Given the description of an element on the screen output the (x, y) to click on. 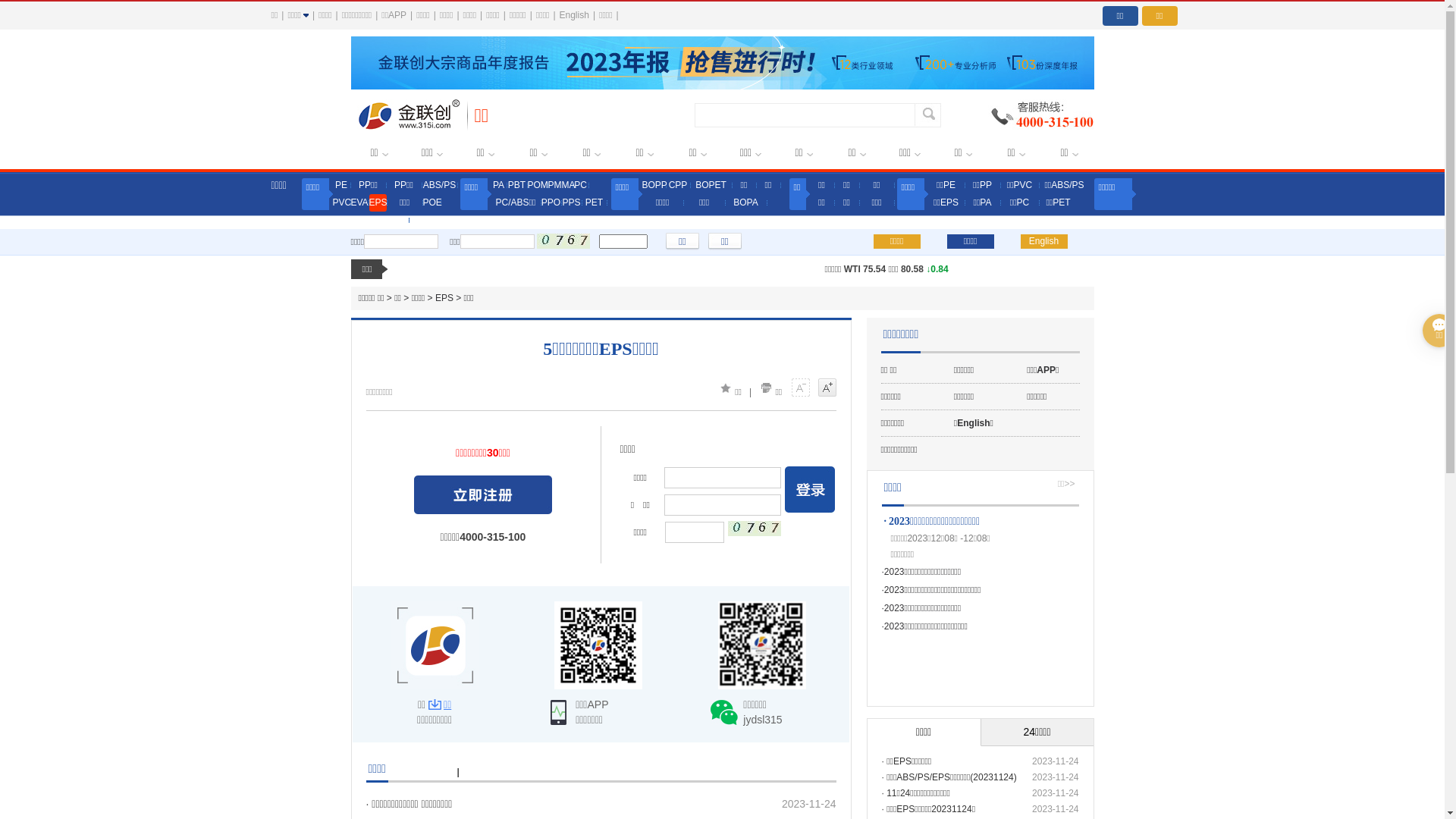
  Element type: text (483, 494)
PMMA Element type: text (559, 185)
CPP Element type: text (677, 185)
ABS/PS Element type: text (438, 185)
POM Element type: text (537, 185)
BOPP Element type: text (653, 185)
EPS Element type: text (376, 202)
English Element type: text (1043, 241)
PPS Element type: text (570, 202)
| Element type: text (457, 771)
PA Element type: text (498, 185)
EVA Element type: text (358, 202)
EPS Element type: text (444, 297)
PE Element type: text (340, 185)
PVC Element type: text (340, 202)
BOPET Element type: text (710, 185)
English Element type: text (574, 14)
BOPA Element type: text (744, 202)
POE Element type: text (431, 202)
PET Element type: text (594, 202)
PBT Element type: text (516, 185)
PC Element type: text (580, 185)
PPO Element type: text (551, 202)
